Given the description of an element on the screen output the (x, y) to click on. 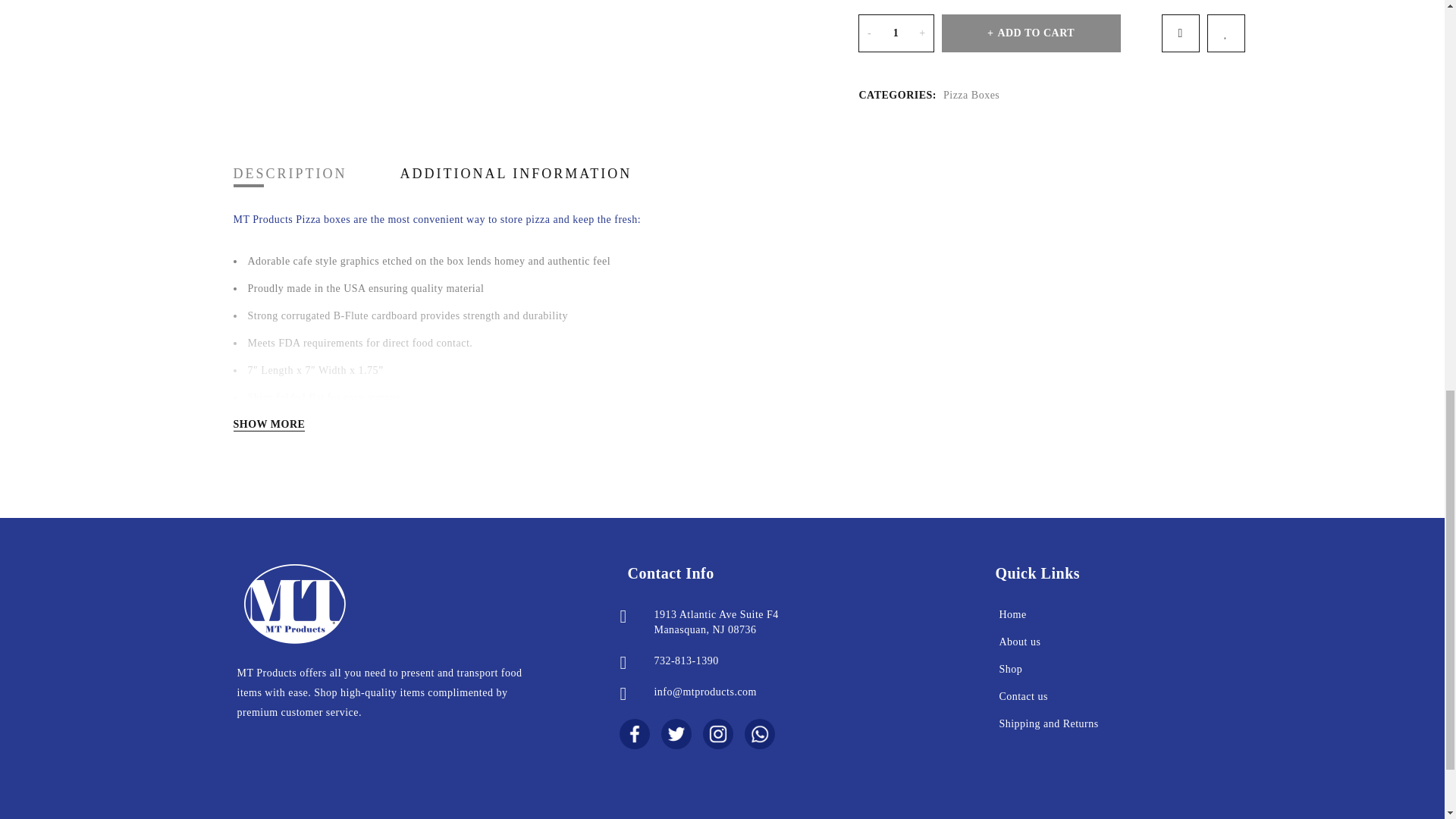
1 (896, 33)
